Given the description of an element on the screen output the (x, y) to click on. 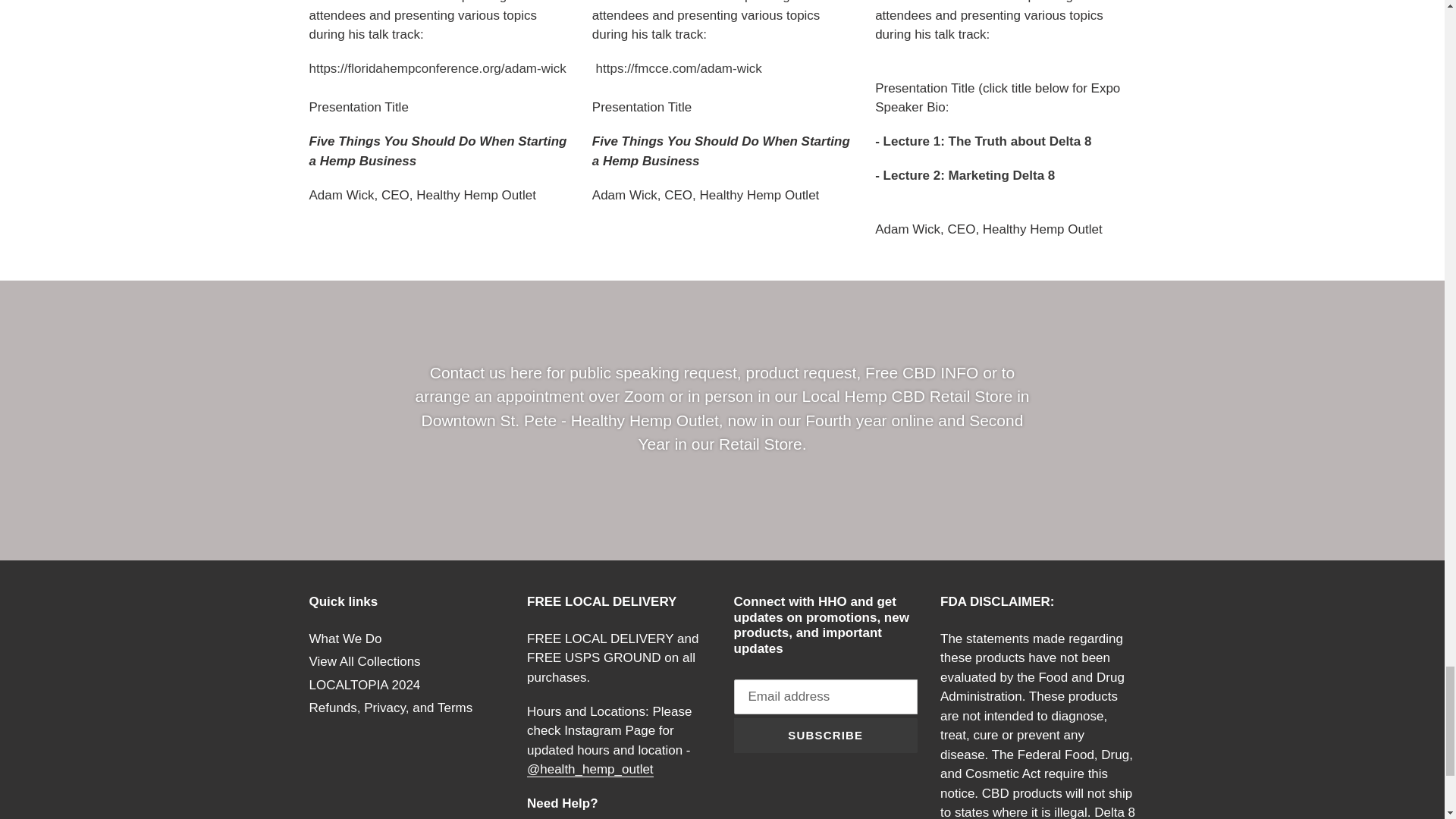
View All Collections (364, 661)
LOCALTOPIA 2024 (364, 685)
- Lecture 1: The Truth about Delta 8 (982, 141)
What We Do (344, 638)
- Lecture 2: Marketing Delta 8 (964, 175)
